Given the description of an element on the screen output the (x, y) to click on. 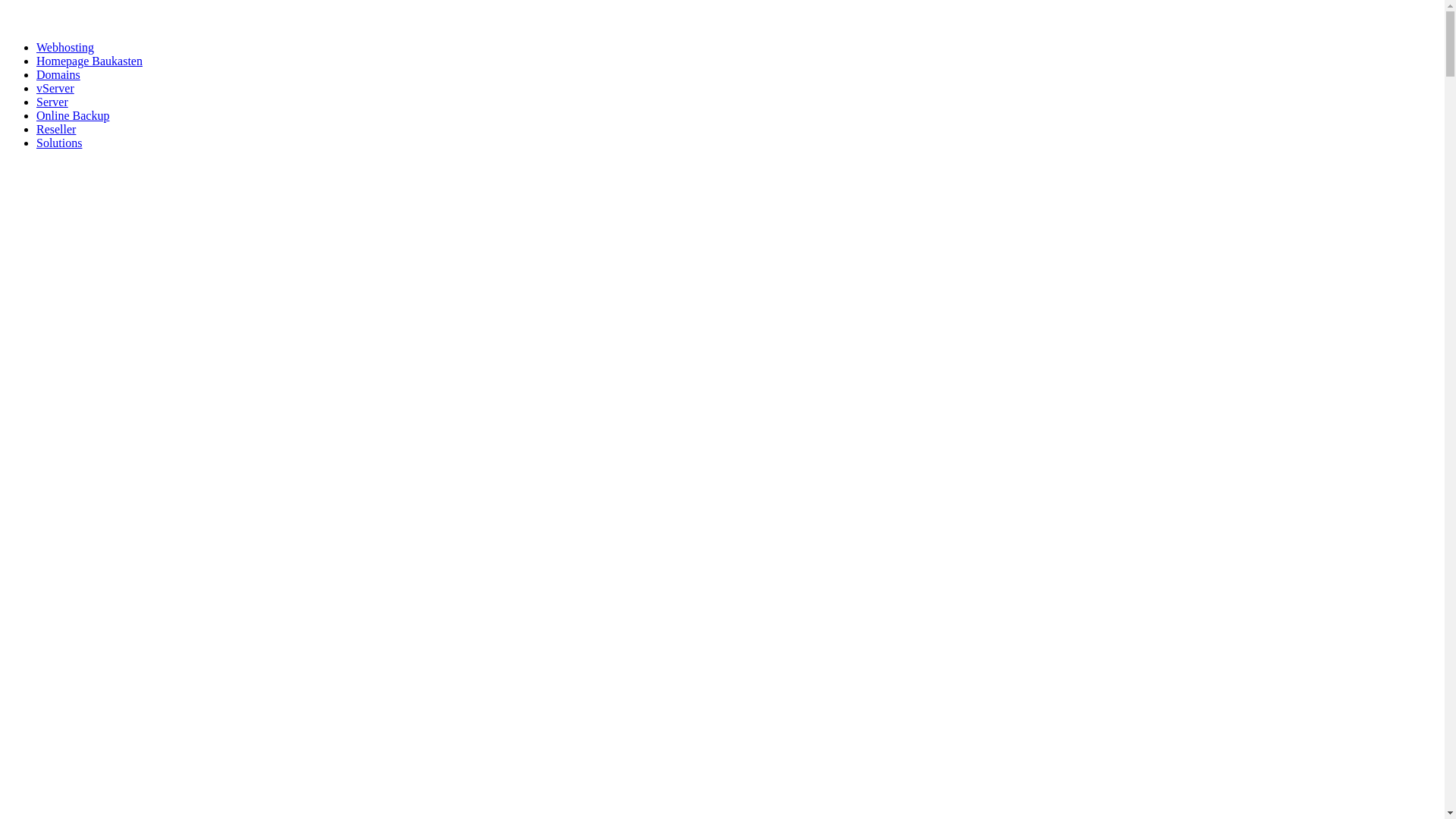
Domains Element type: text (58, 74)
Webhosting Element type: text (65, 46)
Online Backup Element type: text (72, 115)
Reseller Element type: text (55, 128)
vServer Element type: text (55, 87)
Server Element type: text (52, 101)
Homepage Baukasten Element type: text (89, 60)
Solutions Element type: text (58, 142)
